Given the description of an element on the screen output the (x, y) to click on. 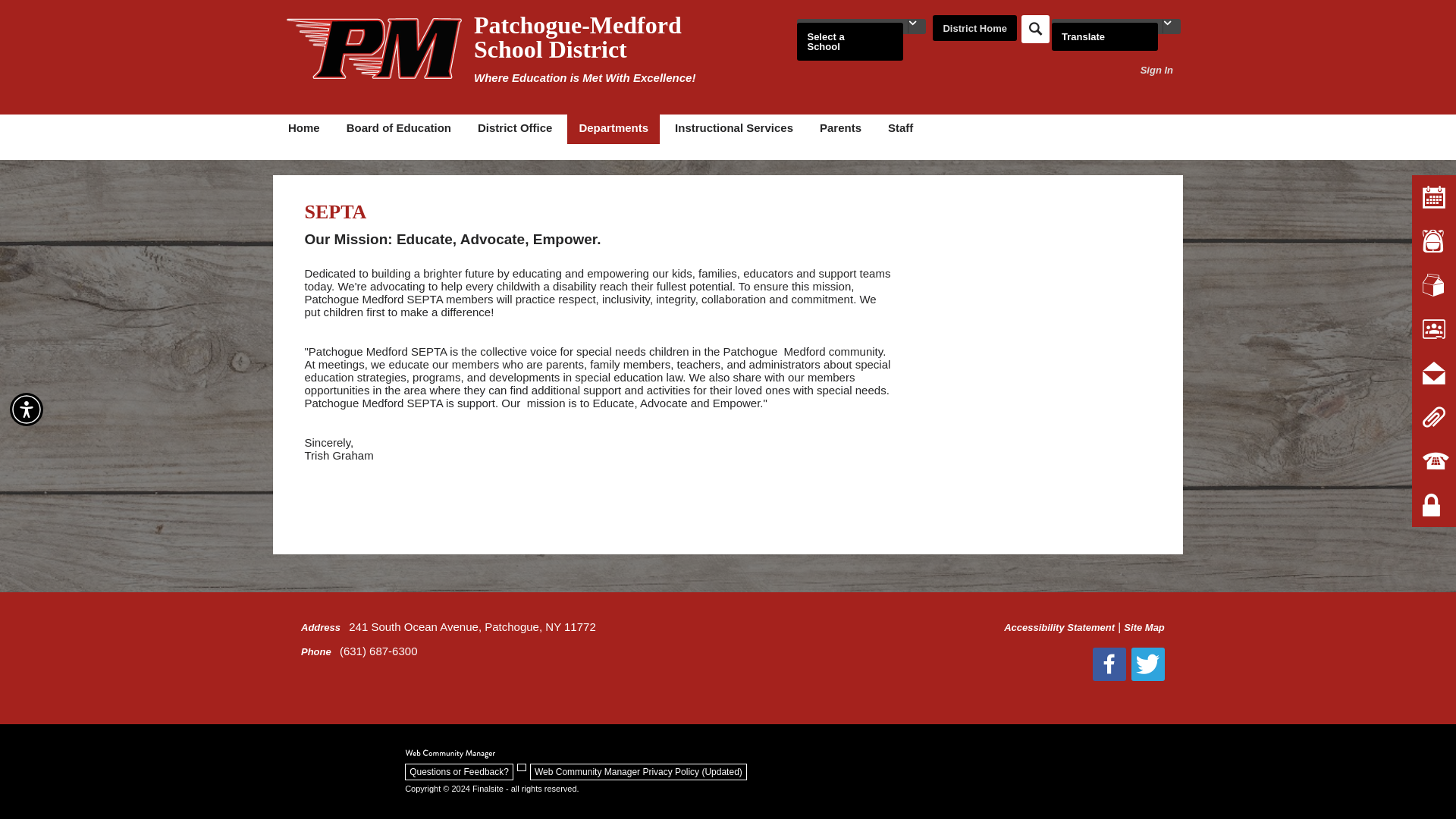
District Home (974, 28)
Patchogue-Medford School District (373, 48)
Return to the home page on the district site (974, 28)
Board of Education (398, 129)
Finalsite - all rights reserved (450, 753)
District Office (514, 129)
Departments (613, 129)
Home (303, 129)
Sign In (1156, 70)
Accessibility Menu (26, 409)
